Given the description of an element on the screen output the (x, y) to click on. 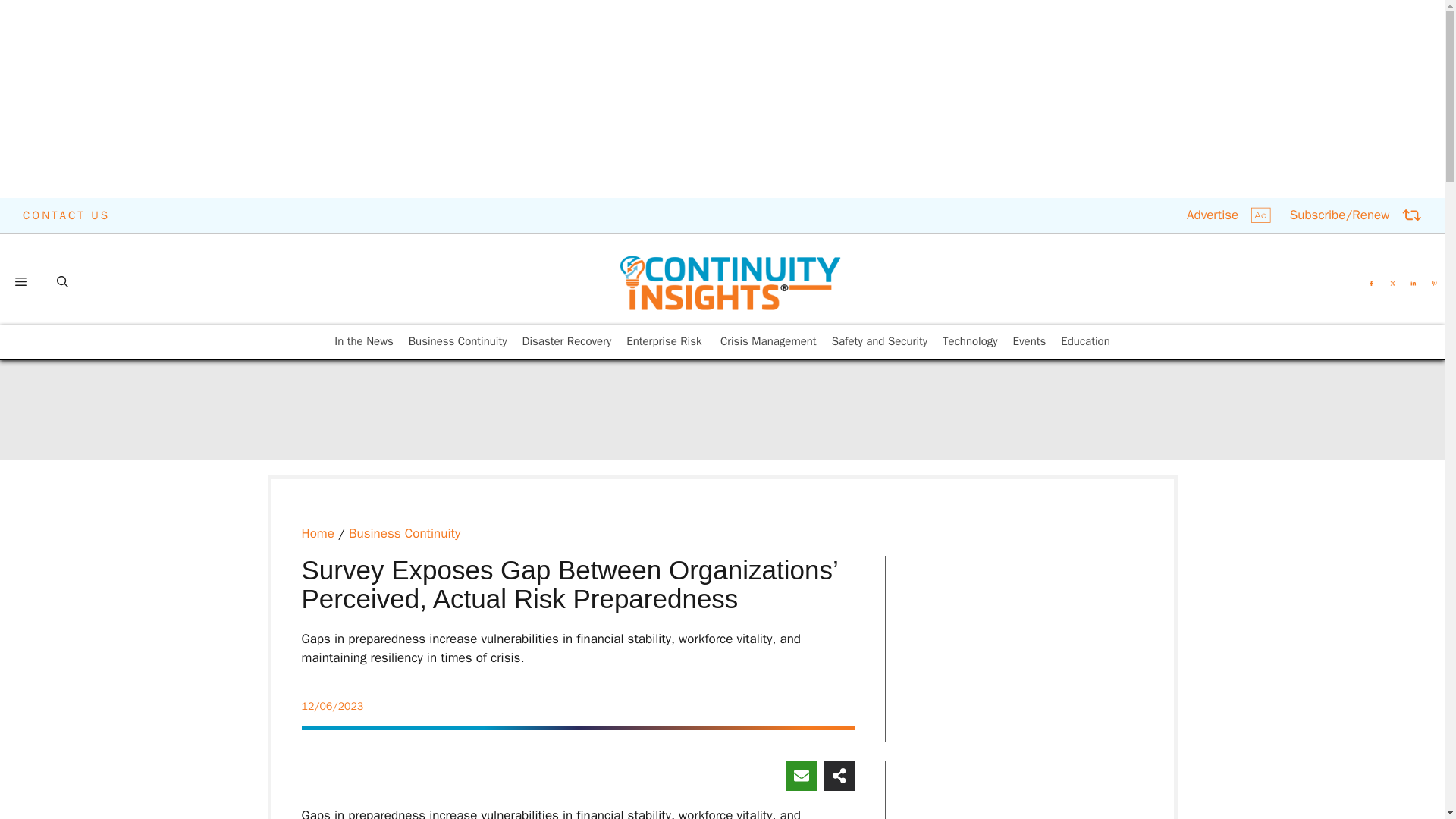
3rd party ad content (380, 269)
Safety and Security (879, 341)
Education (1085, 341)
CONTACT US (66, 214)
Continuity Insights (729, 281)
Business Continuity (404, 533)
Technology (969, 341)
In the News (363, 341)
3rd party ad content (1028, 657)
